Given the description of an element on the screen output the (x, y) to click on. 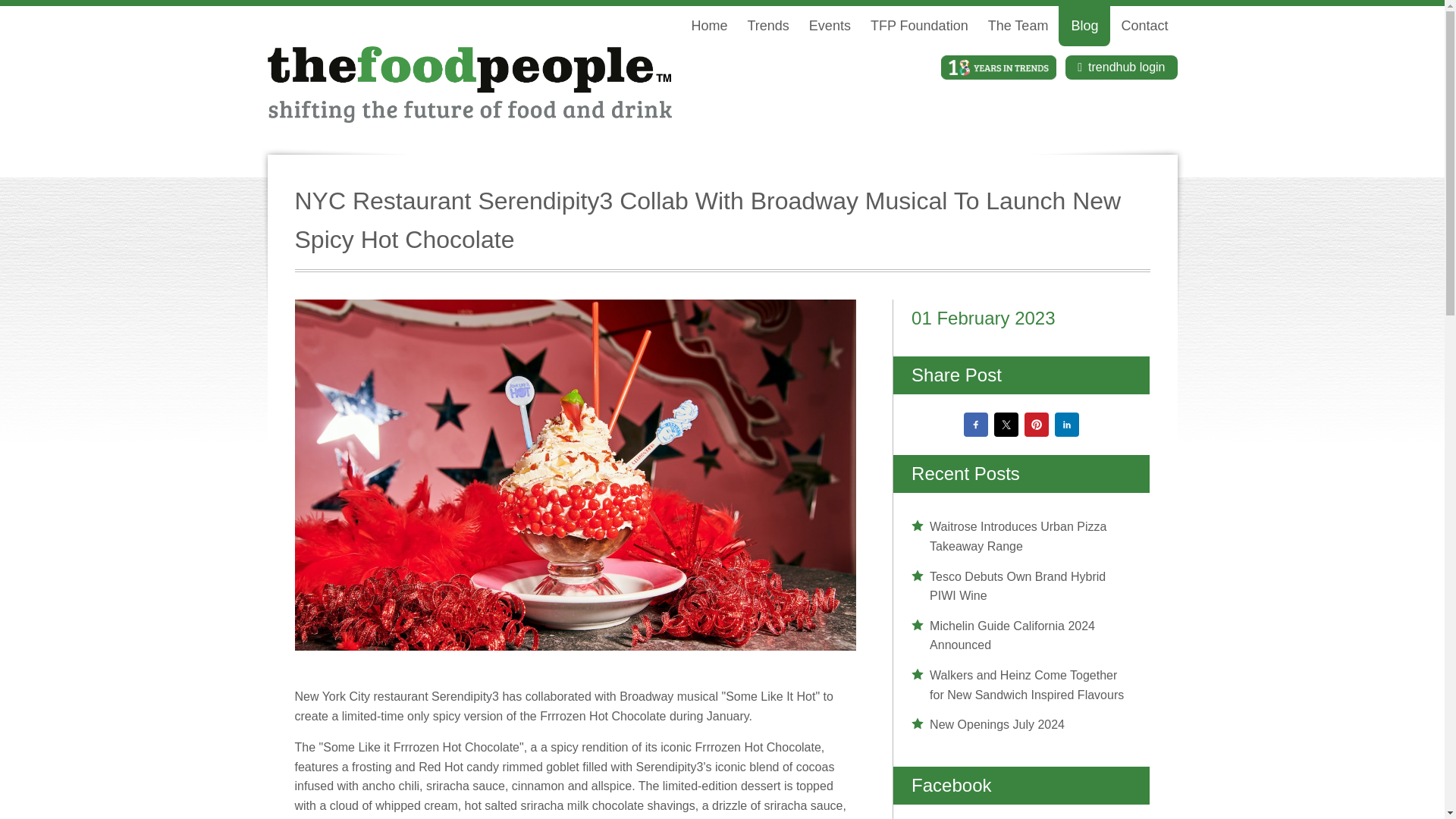
trendhub login (1120, 67)
Tesco Debuts Own Brand Hybrid PIWI Wine (1021, 585)
The Team (1018, 25)
Blog (1083, 25)
Events (829, 25)
Contact (1144, 25)
thefoodpeople (468, 83)
Michelin Guide California 2024 Announced (1021, 635)
TFP Foundation (918, 25)
